Given the description of an element on the screen output the (x, y) to click on. 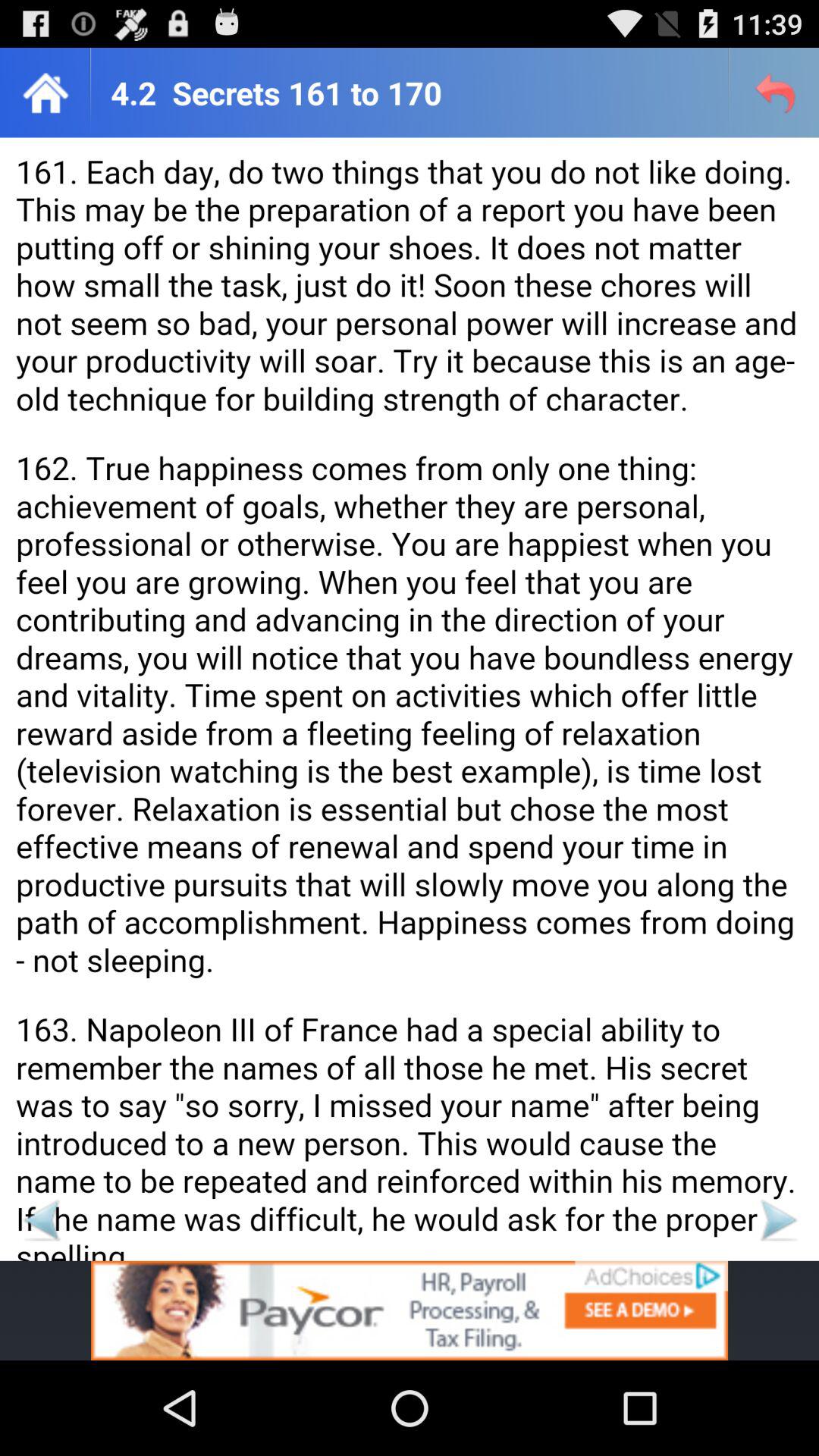
advertisement banner for paycor (409, 1310)
